Given the description of an element on the screen output the (x, y) to click on. 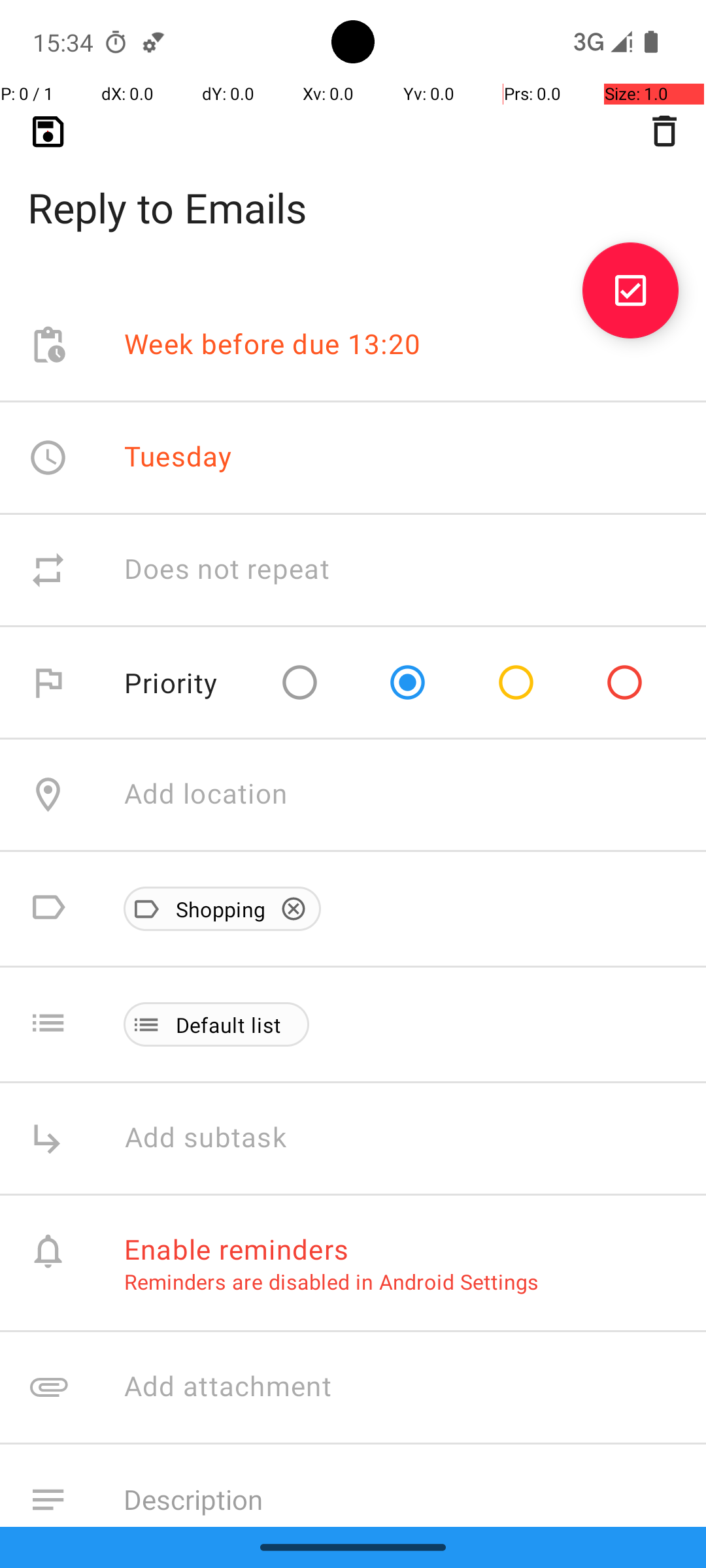
Week before due 13:20 Element type: android.widget.TextView (272, 344)
Shopping Element type: android.widget.TextView (213, 909)
